Given the description of an element on the screen output the (x, y) to click on. 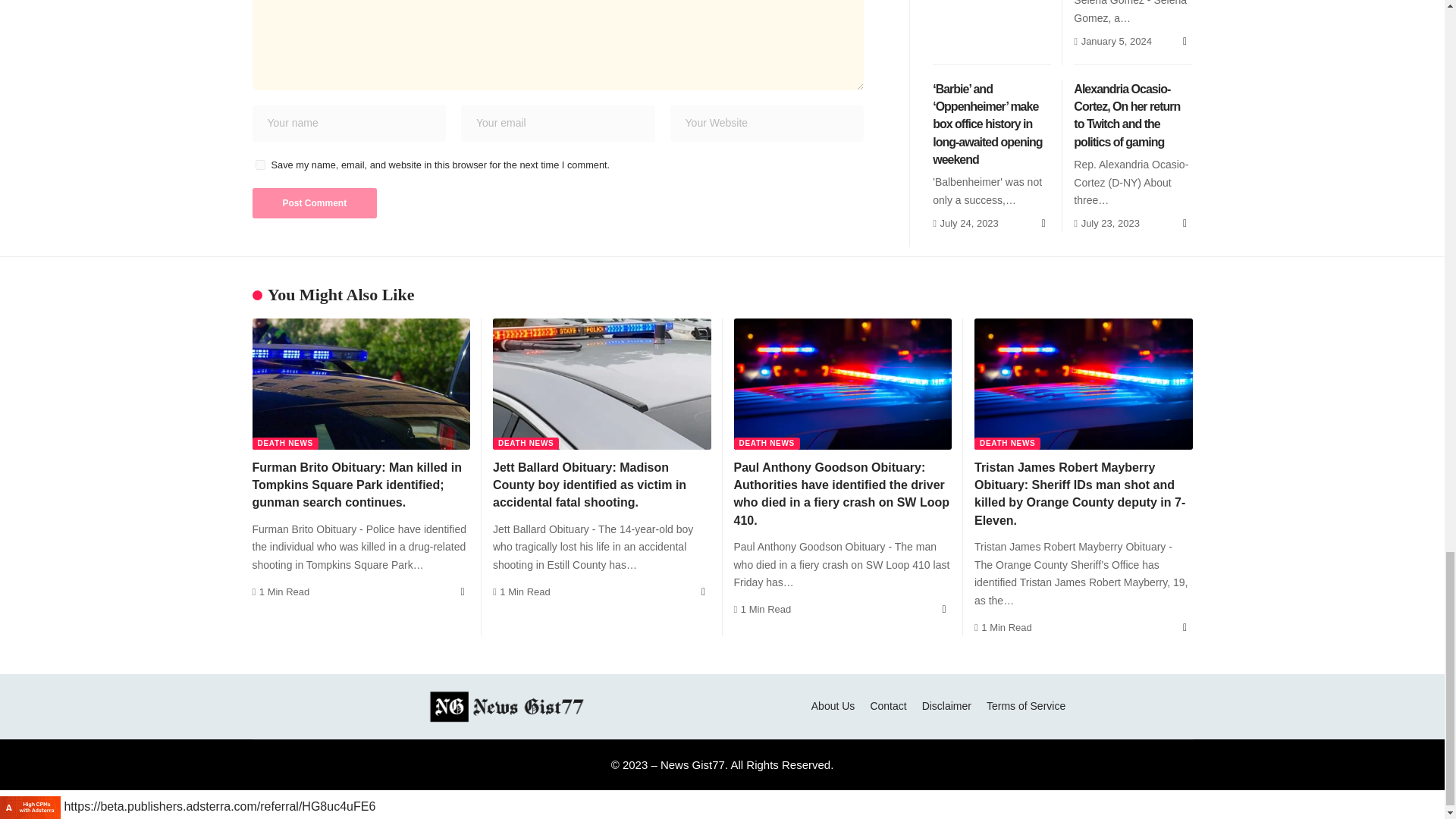
Post Comment (314, 203)
yes (259, 164)
